Given the description of an element on the screen output the (x, y) to click on. 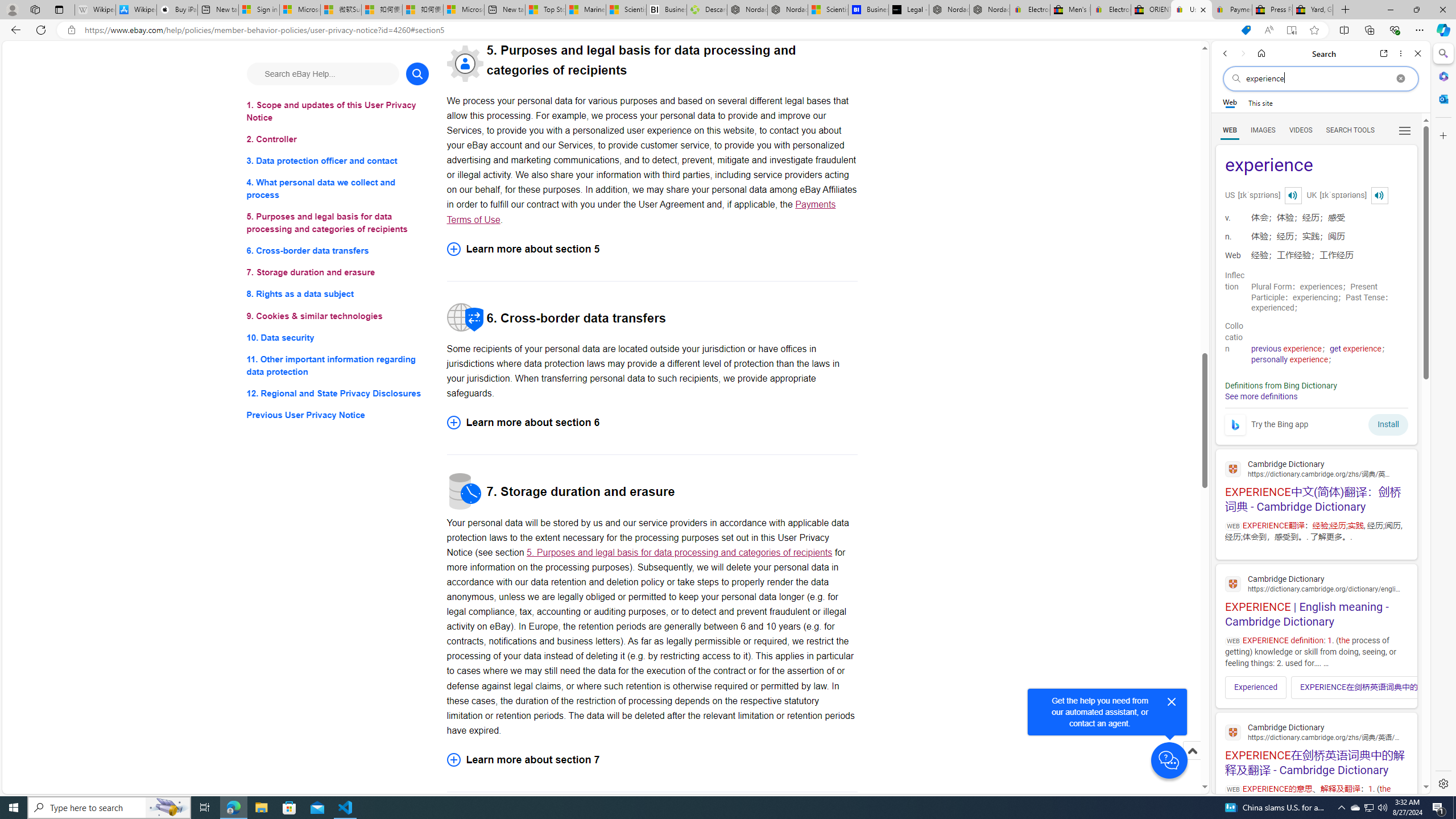
Class: dict_pnIcon rms_img (1379, 194)
4. What personal data we collect and process (337, 189)
Previous User Privacy Notice (337, 414)
